Given the description of an element on the screen output the (x, y) to click on. 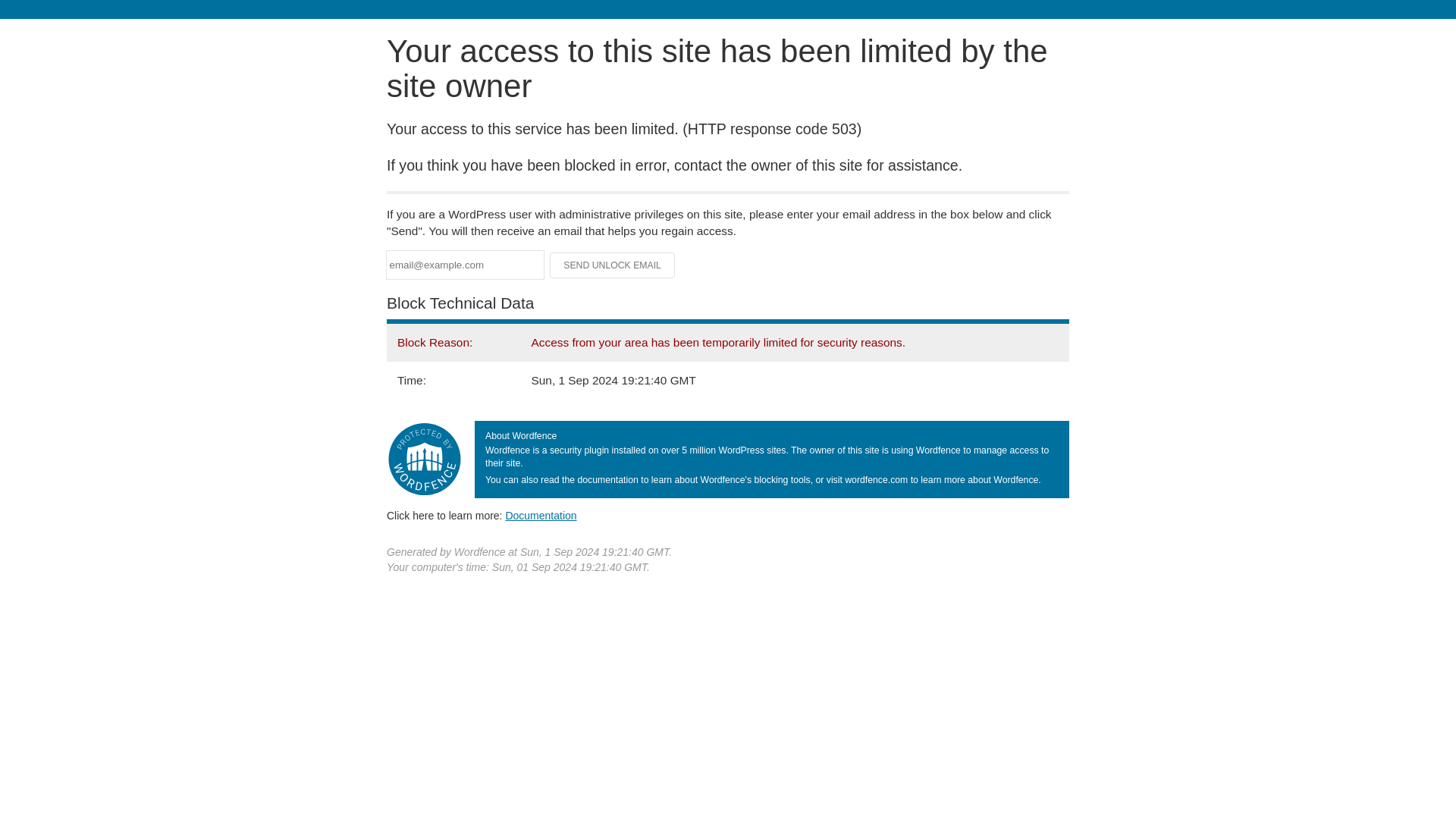
Send Unlock Email (612, 265)
Send Unlock Email (612, 265)
Documentation (540, 515)
